Given the description of an element on the screen output the (x, y) to click on. 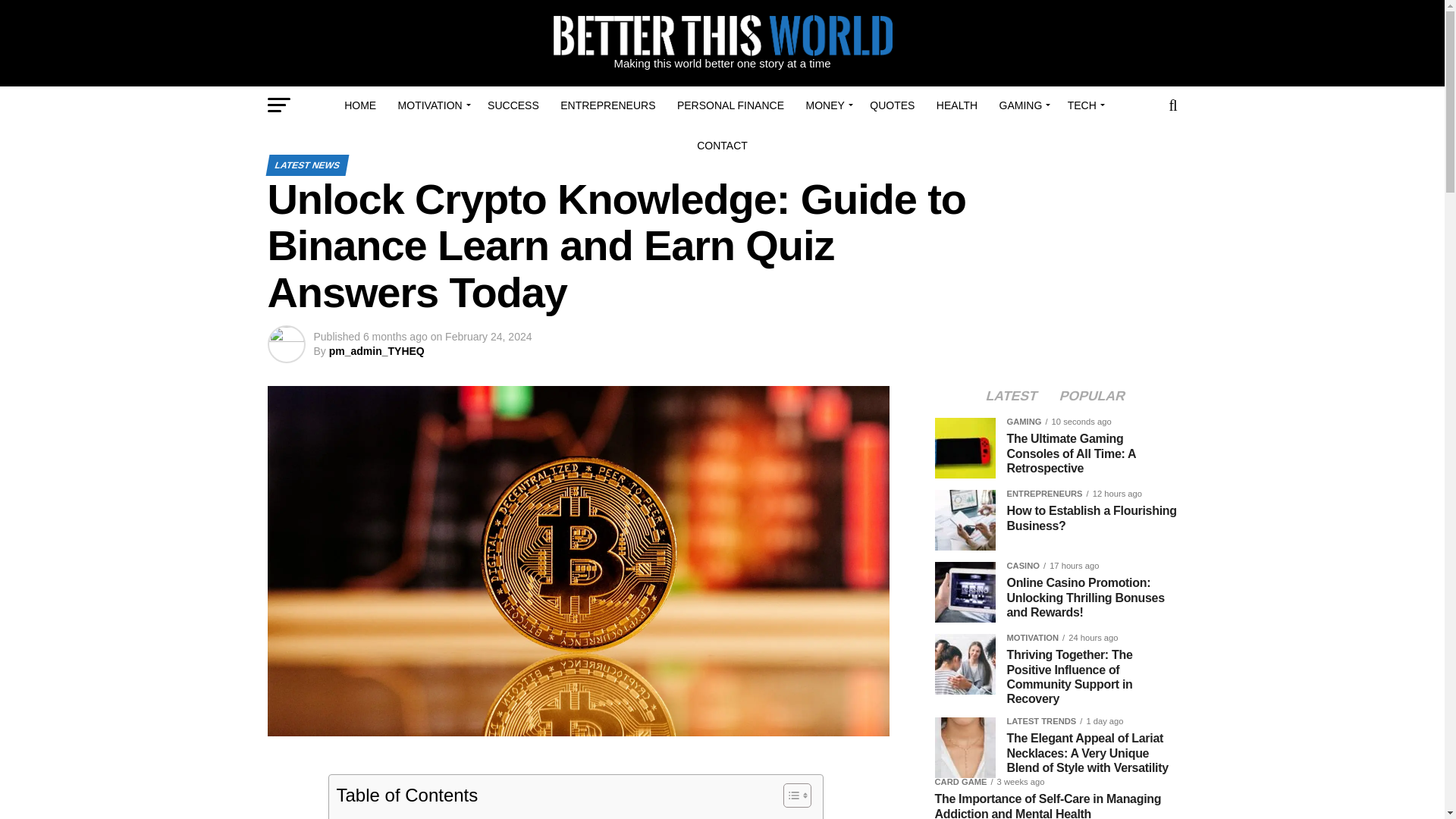
MONEY (826, 105)
QUOTES (891, 105)
SUCCESS (513, 105)
HEALTH (957, 105)
MOTIVATION (432, 105)
ENTREPRENEURS (607, 105)
HOME (359, 105)
TECH (1083, 105)
PERSONAL FINANCE (730, 105)
GAMING (1022, 105)
